Given the description of an element on the screen output the (x, y) to click on. 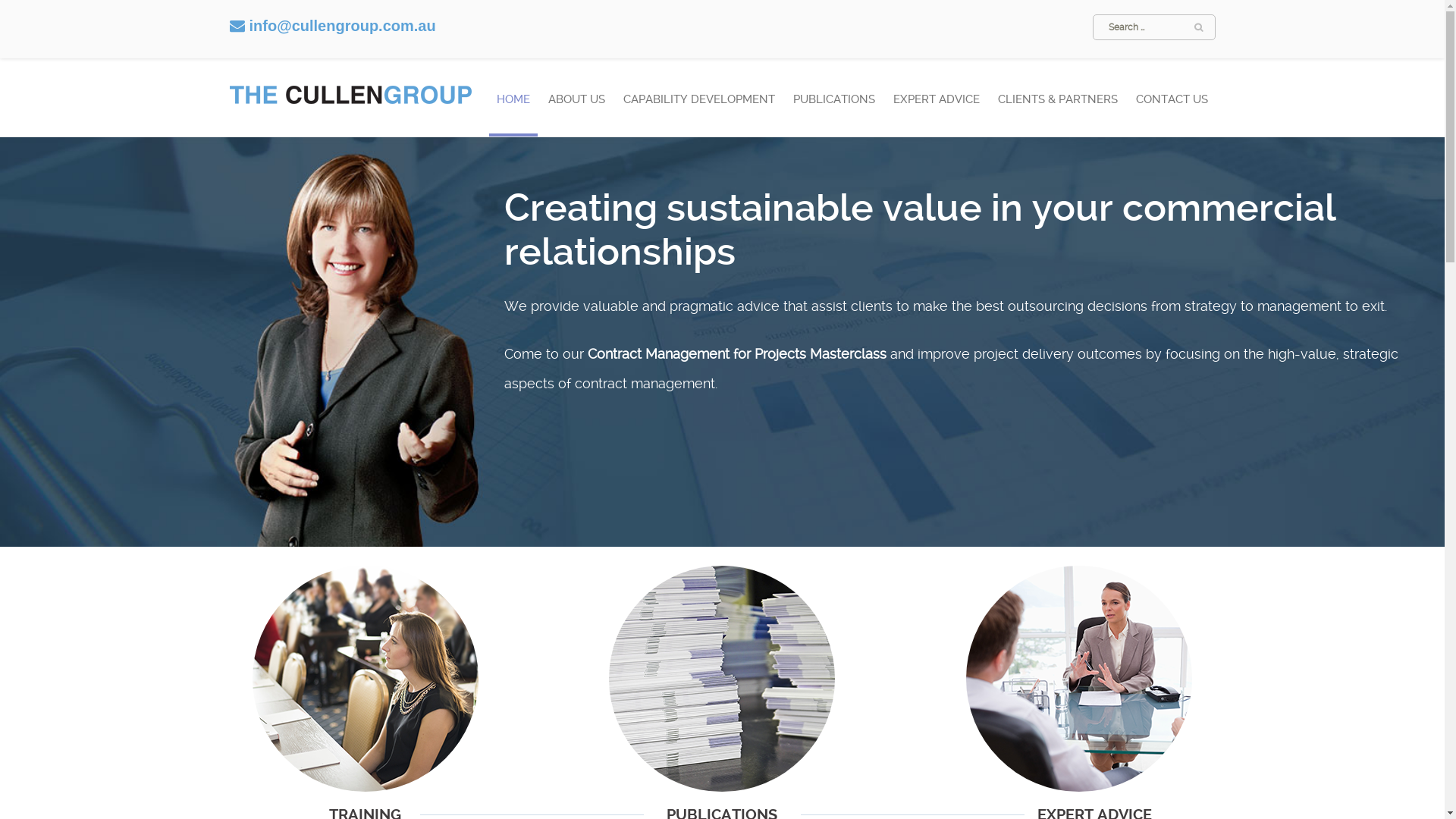
HOME Element type: text (512, 109)
EXPERT ADVICE Element type: text (936, 107)
Skip to content Element type: text (488, 82)
The Cullen Group Element type: hover (349, 90)
Search Element type: text (38, 18)
ABOUT US Element type: text (575, 107)
info@cullengroup.com.au Element type: text (341, 25)
PUBLICATIONS Element type: text (833, 107)
CAPABILITY DEVELOPMENT Element type: text (698, 107)
CONTACT US Element type: text (1171, 107)
CLIENTS & PARTNERS Element type: text (1057, 107)
